Given the description of an element on the screen output the (x, y) to click on. 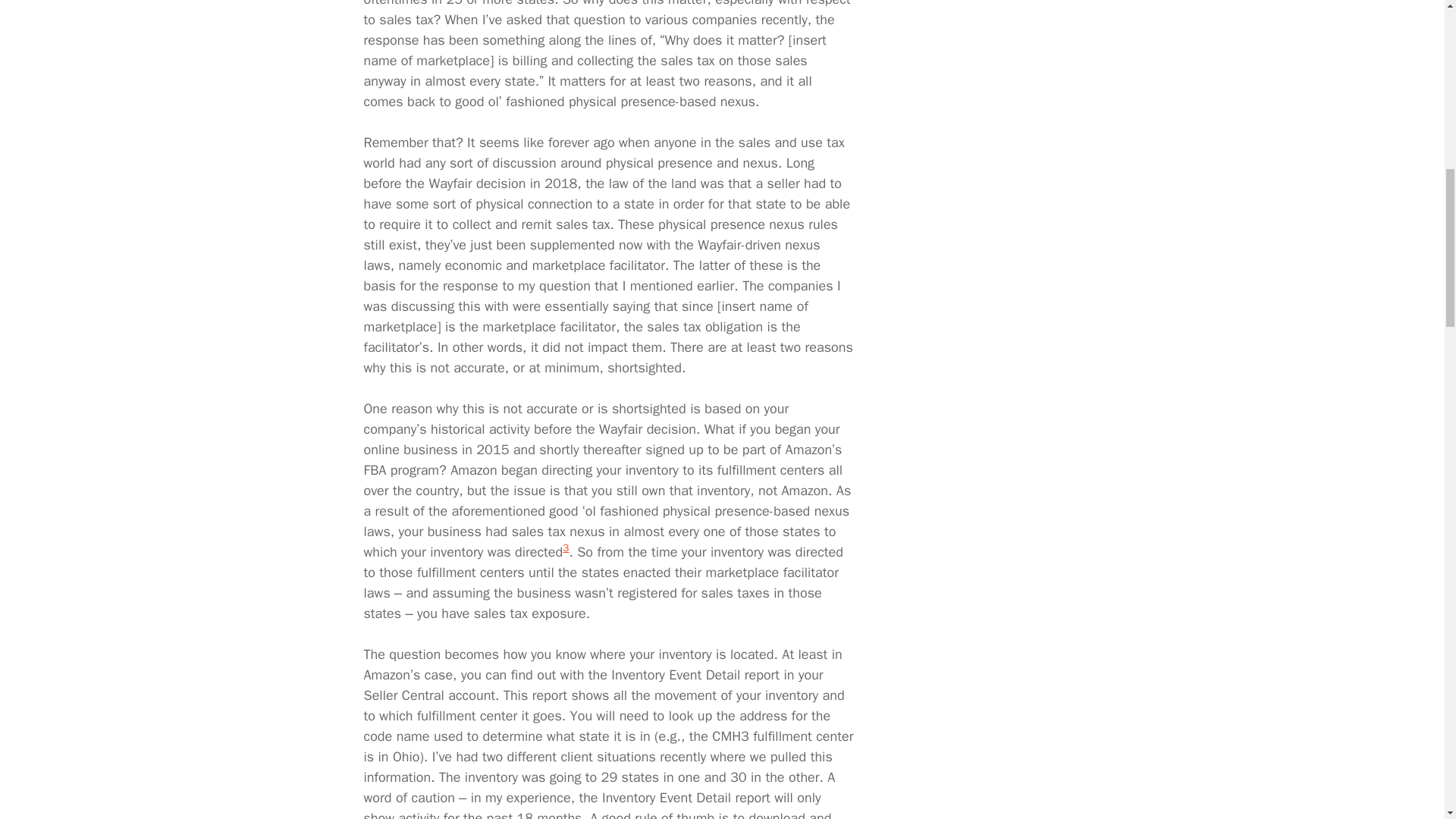
Scroll back to top (1406, 720)
